Given the description of an element on the screen output the (x, y) to click on. 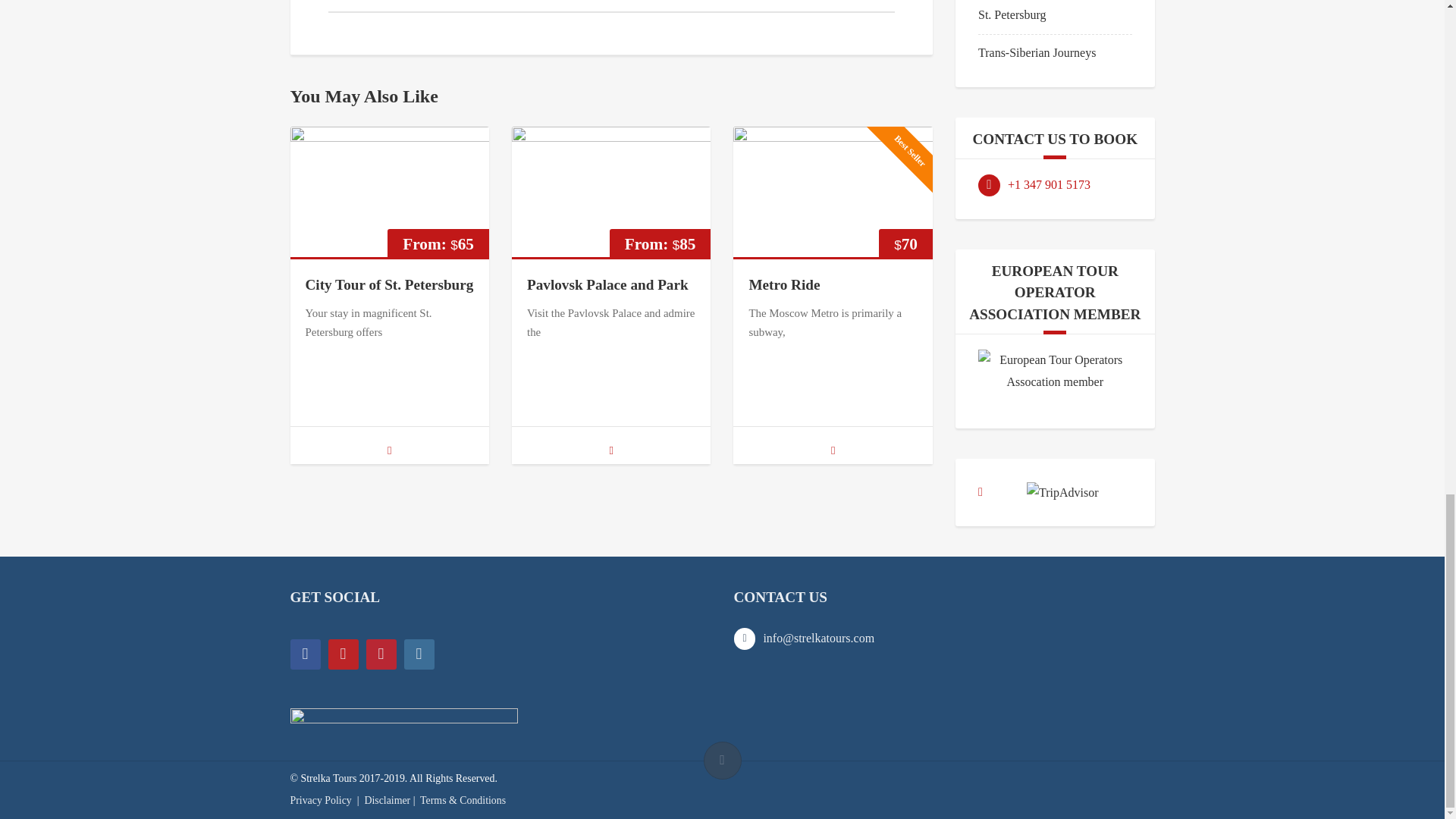
Pavlovsk Palace and Park (607, 284)
City Tour of St. Petersburg (388, 284)
Metro Ride (783, 284)
